Given the description of an element on the screen output the (x, y) to click on. 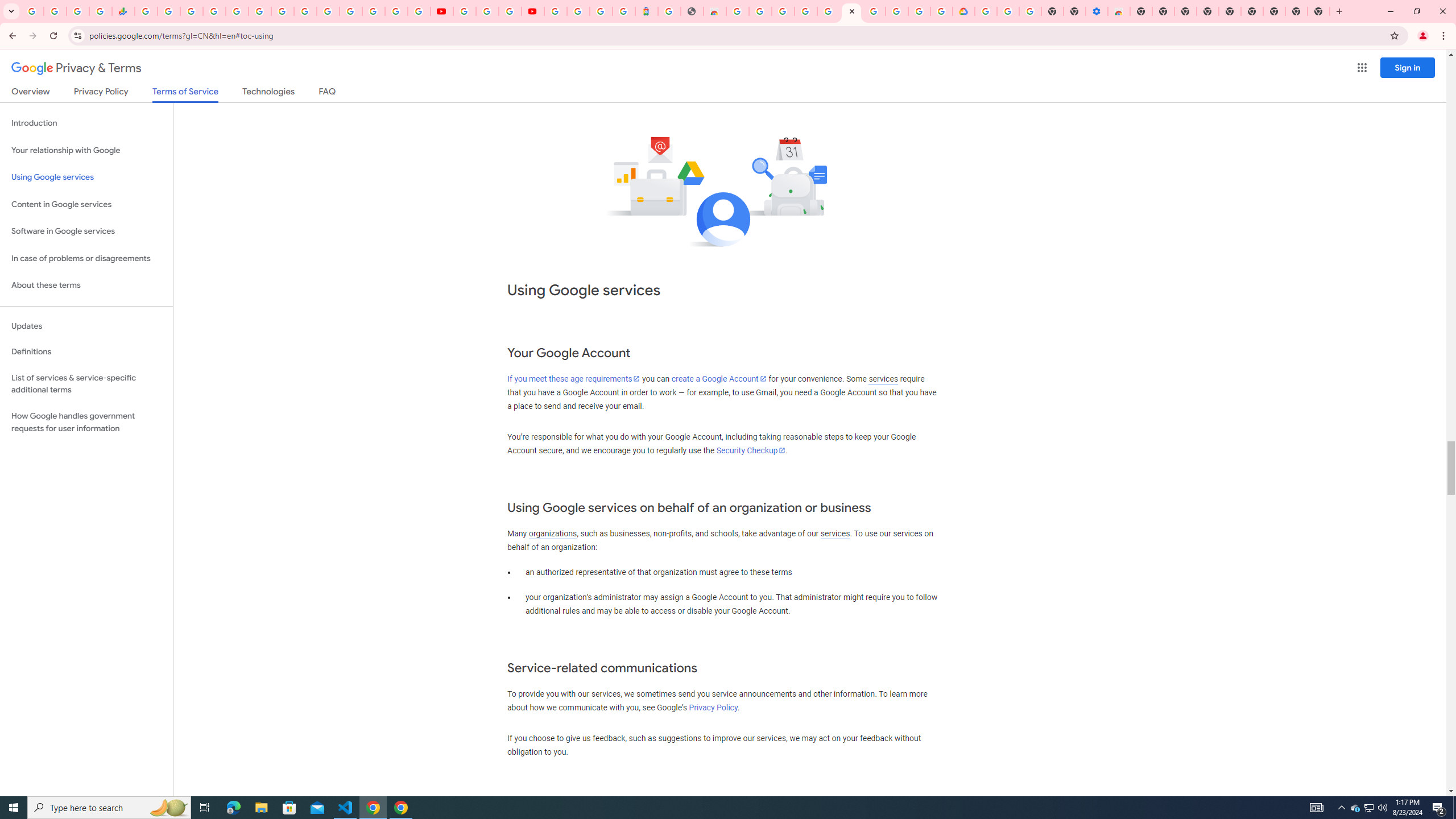
YouTube (464, 11)
Security Checkup (751, 450)
Create your Google Account (760, 11)
Google Account Help (874, 11)
Google Workspace Admin Community (32, 11)
Browse the Google Chrome Community - Google Chrome Community (942, 11)
Your relationship with Google (86, 150)
